Given the description of an element on the screen output the (x, y) to click on. 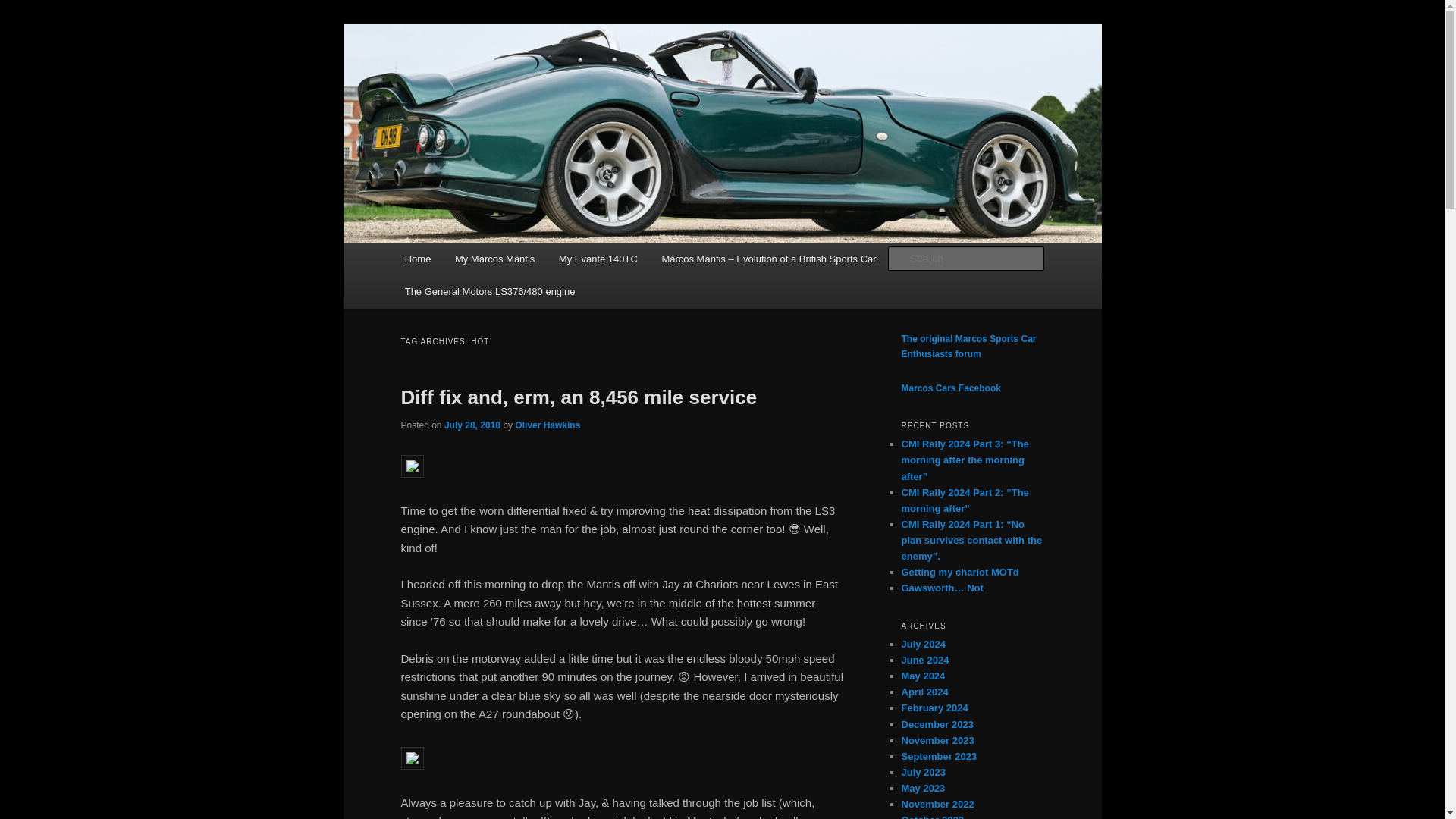
February 2024 (934, 707)
Marcos Mantis ownership (539, 78)
July 2023 (922, 772)
Search (24, 8)
May 2023 (922, 787)
November 2023 (937, 740)
My Evante 140TC (598, 258)
November 2022 (937, 803)
July 28, 2018 (472, 425)
Oliver Hawkins (547, 425)
May 2024 (922, 675)
September 2023 (938, 756)
Home (417, 258)
October 2022 (931, 816)
Marcos Cars Facebook (950, 388)
